Given the description of an element on the screen output the (x, y) to click on. 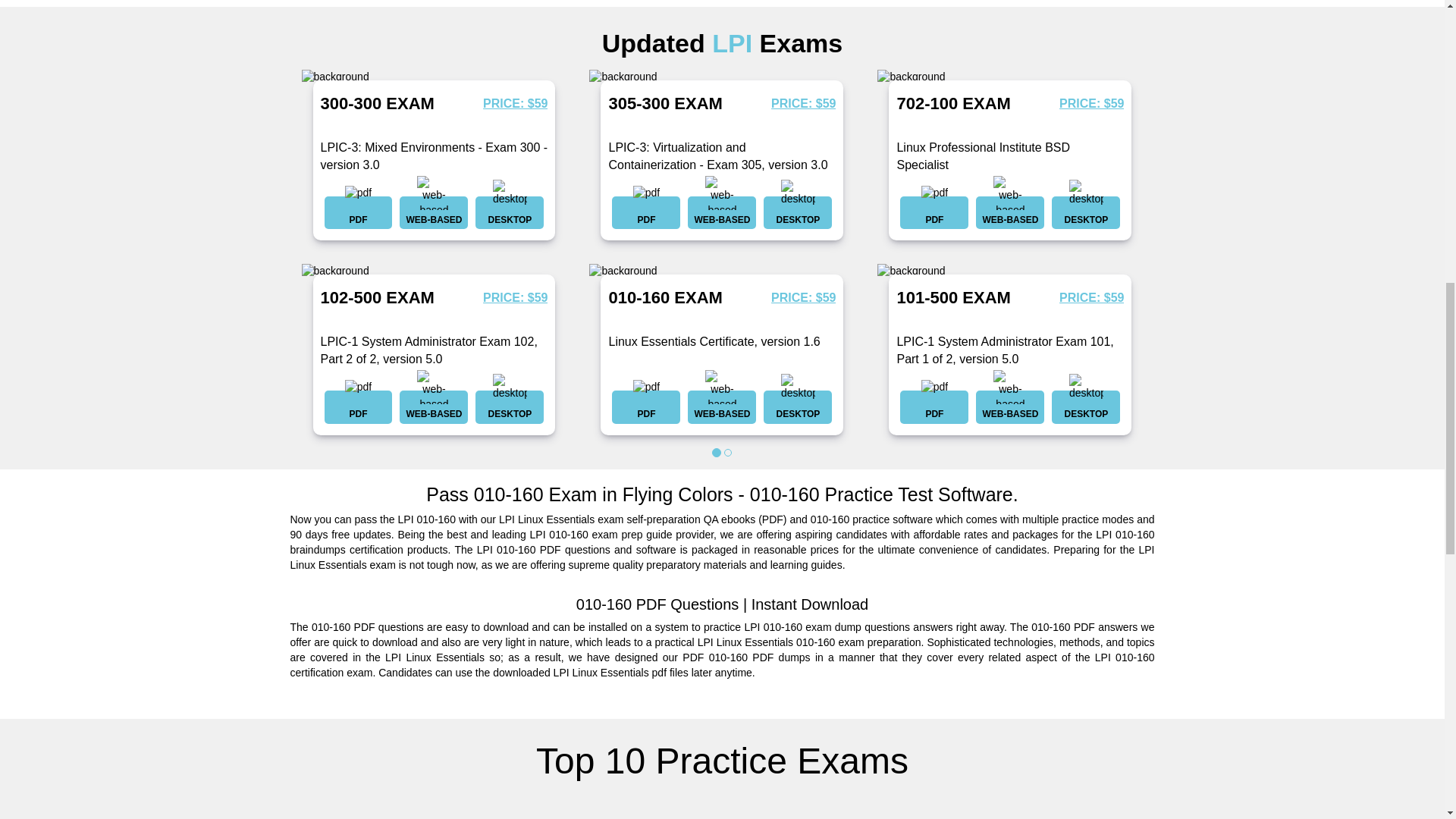
101-500 EXAM (953, 297)
702-100 EXAM (953, 103)
300-300 EXAM (376, 103)
010-160 EXAM (665, 297)
305-300 EXAM (665, 103)
102-500 EXAM (376, 297)
